Given the description of an element on the screen output the (x, y) to click on. 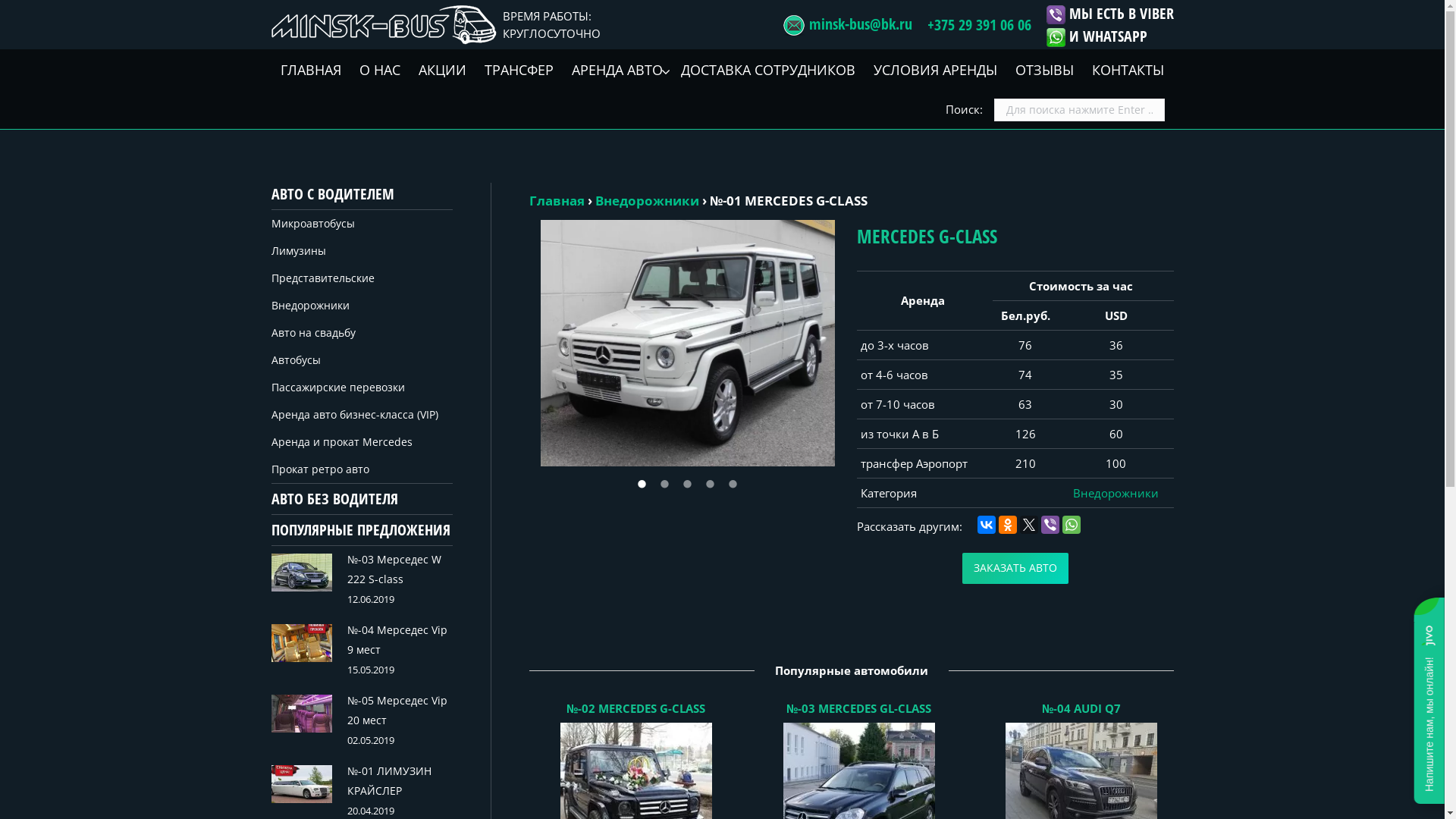
+375 29 391 06 06 Element type: text (978, 23)
WhatsApp Element type: hover (1071, 524)
Twitter Element type: hover (1028, 524)
minsk-bus@bk.ru Element type: text (859, 23)
Viber Element type: hover (1050, 524)
